Given the description of an element on the screen output the (x, y) to click on. 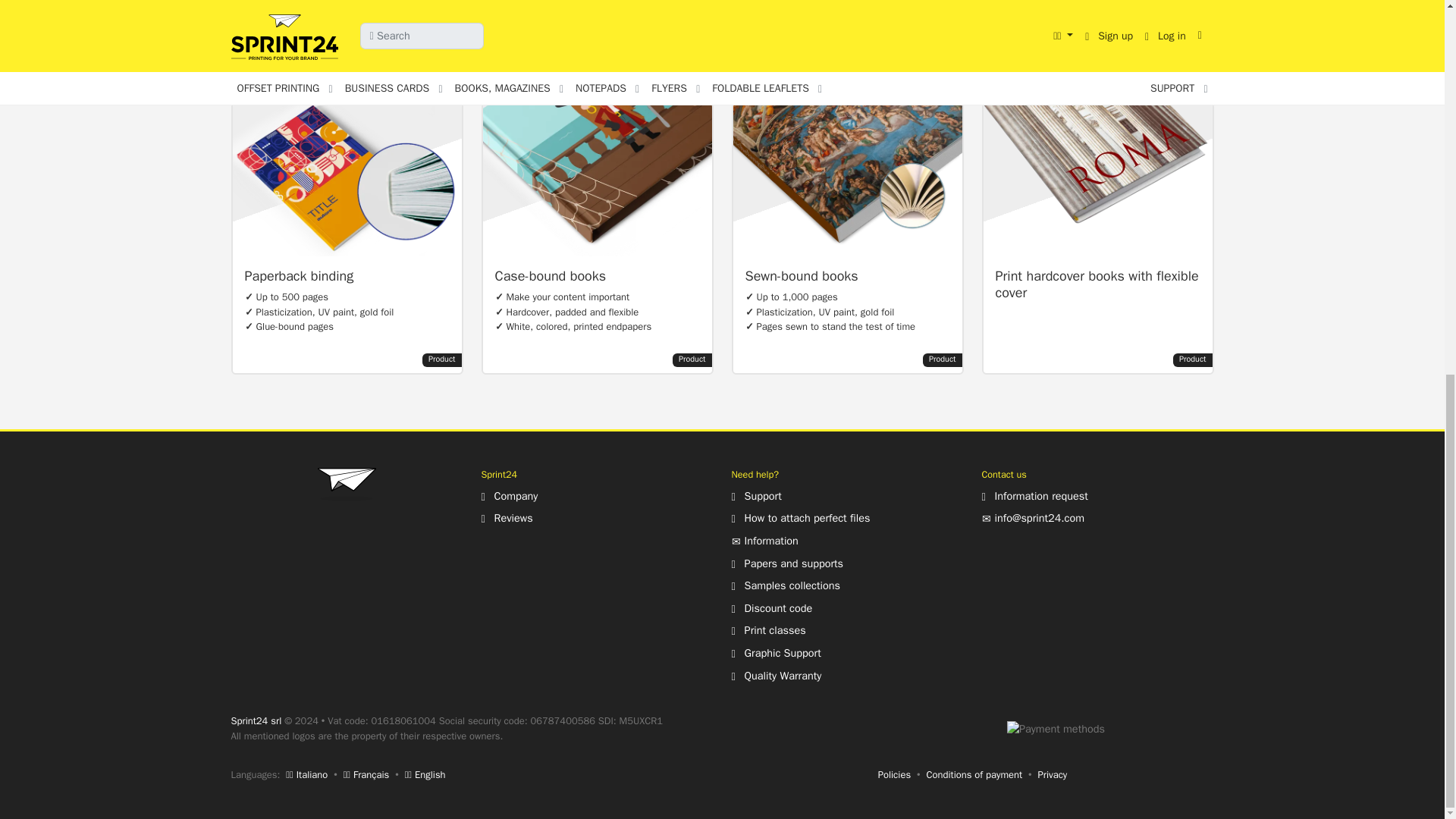
Hardcover Books Printing Online Custom UK (596, 180)
Threaded Paperbacks Printing Online Custom UK (846, 180)
Papers and supports (786, 563)
Paperback Binding Online Custom UK (346, 180)
Information (763, 540)
Print hardcover books with flexible cover (1096, 180)
Support (755, 495)
How to attach perfect files (799, 517)
